Given the description of an element on the screen output the (x, y) to click on. 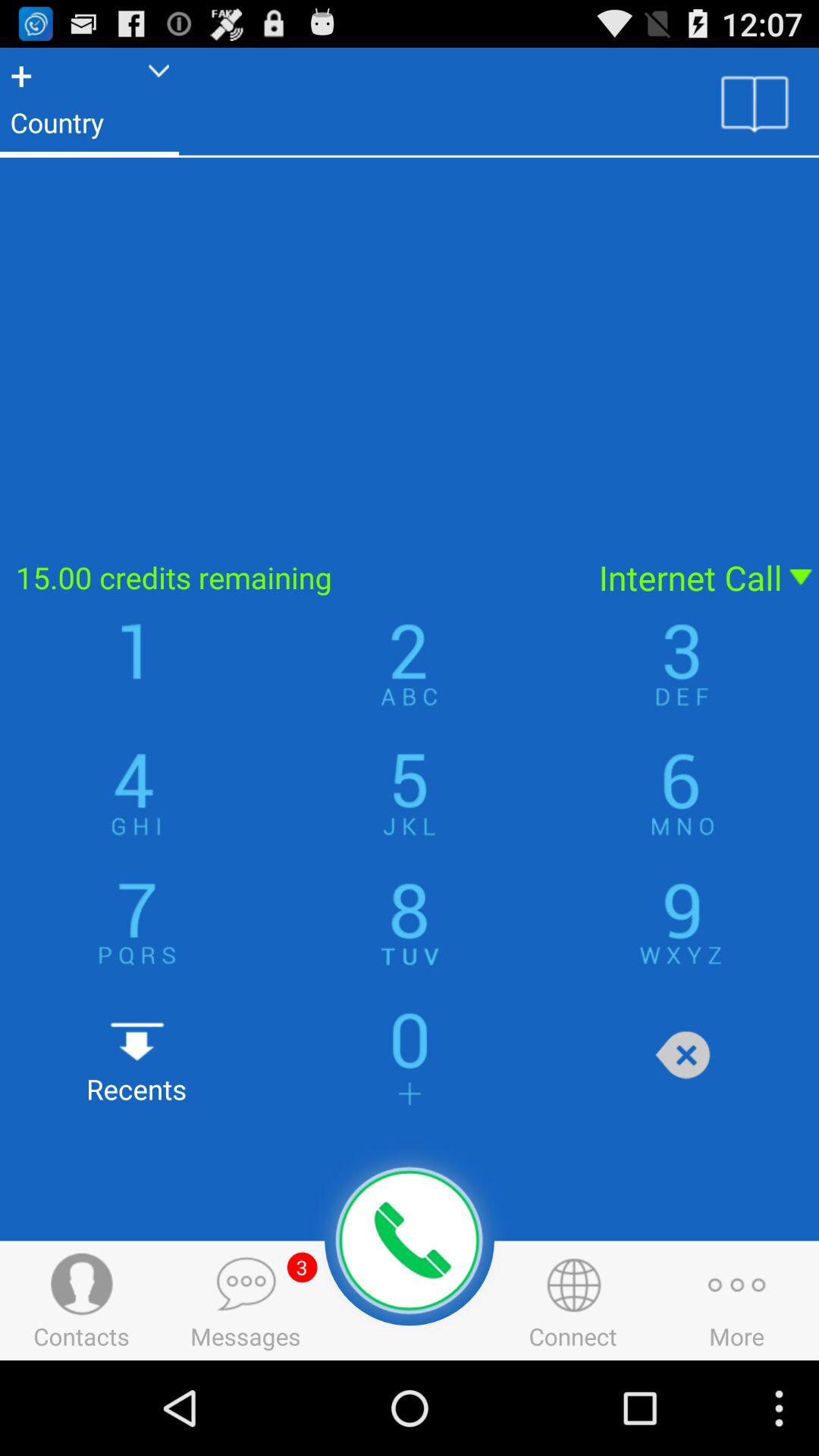
make a call (409, 1240)
